Given the description of an element on the screen output the (x, y) to click on. 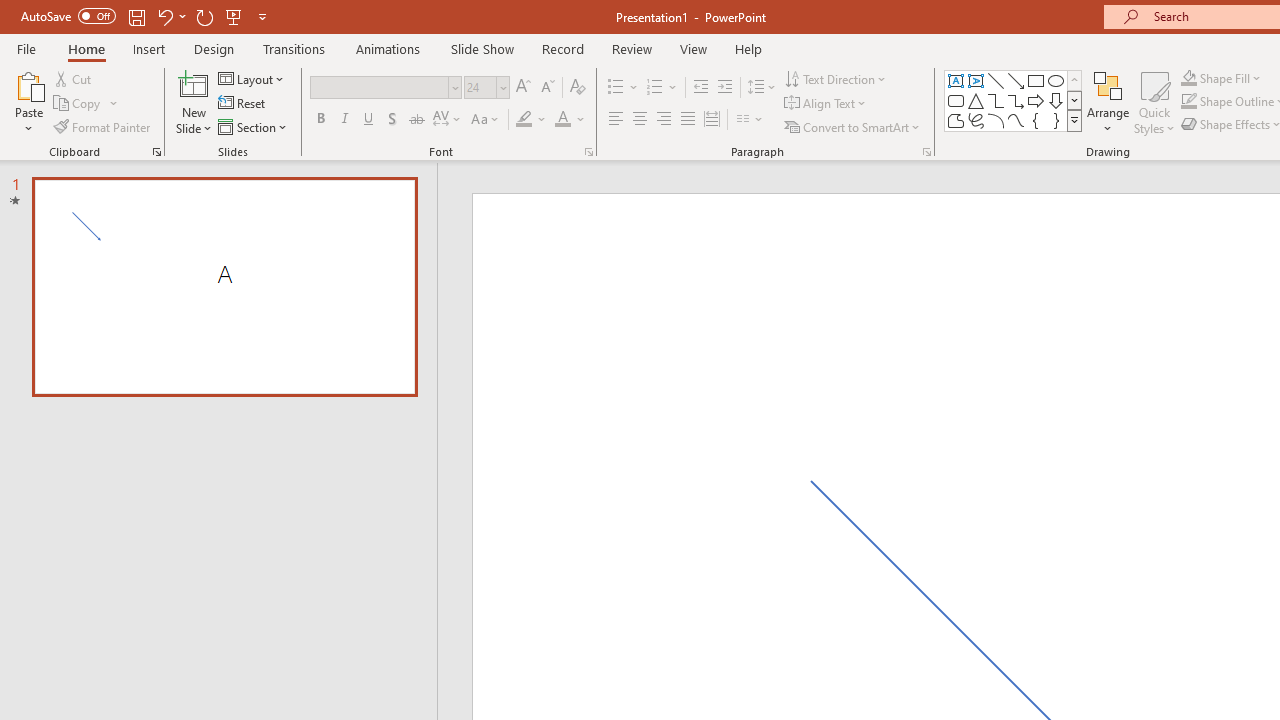
Slide A (224, 286)
